Given the description of an element on the screen output the (x, y) to click on. 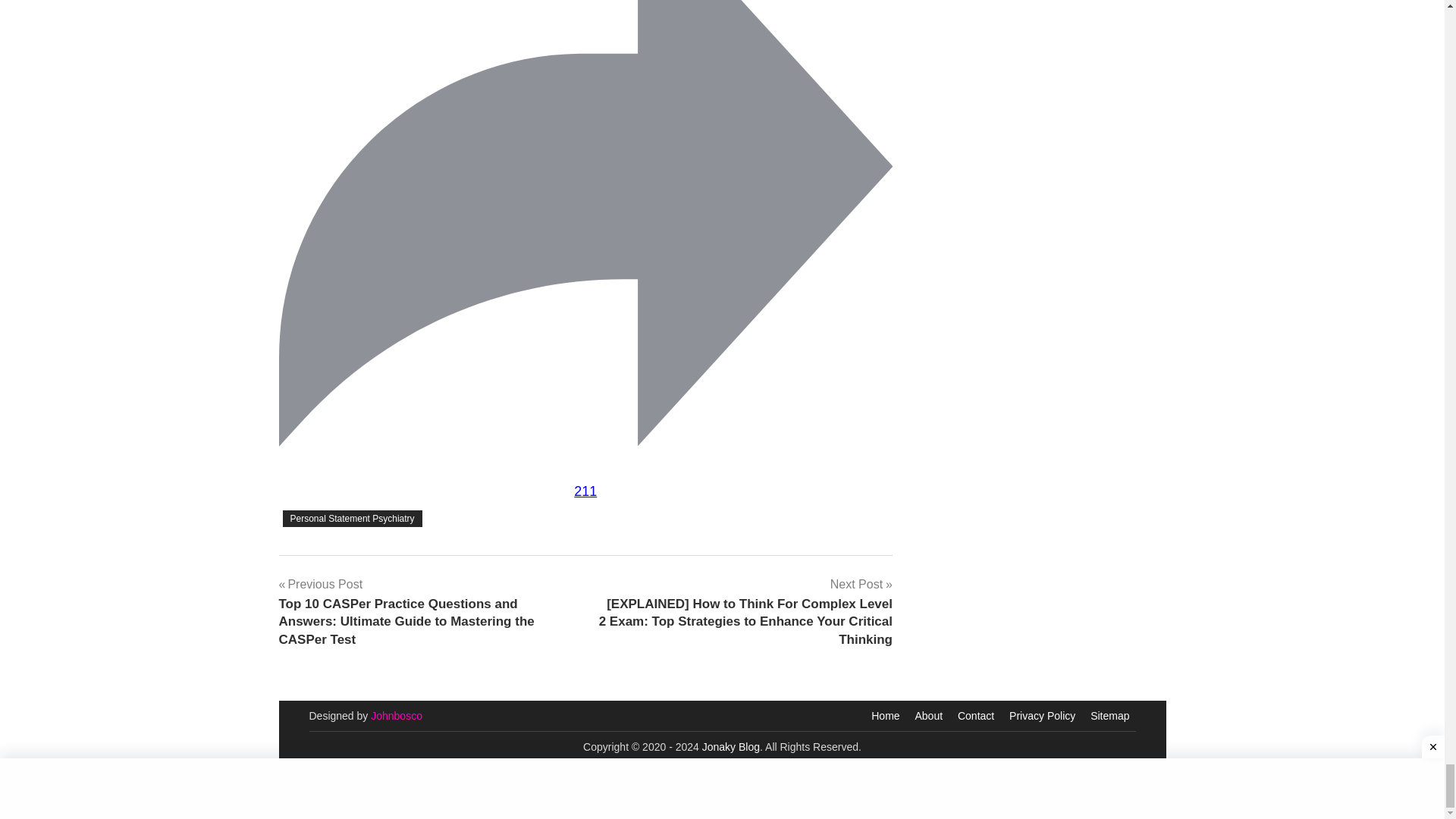
Jonaky Blog (730, 746)
Admin (396, 715)
